Given the description of an element on the screen output the (x, y) to click on. 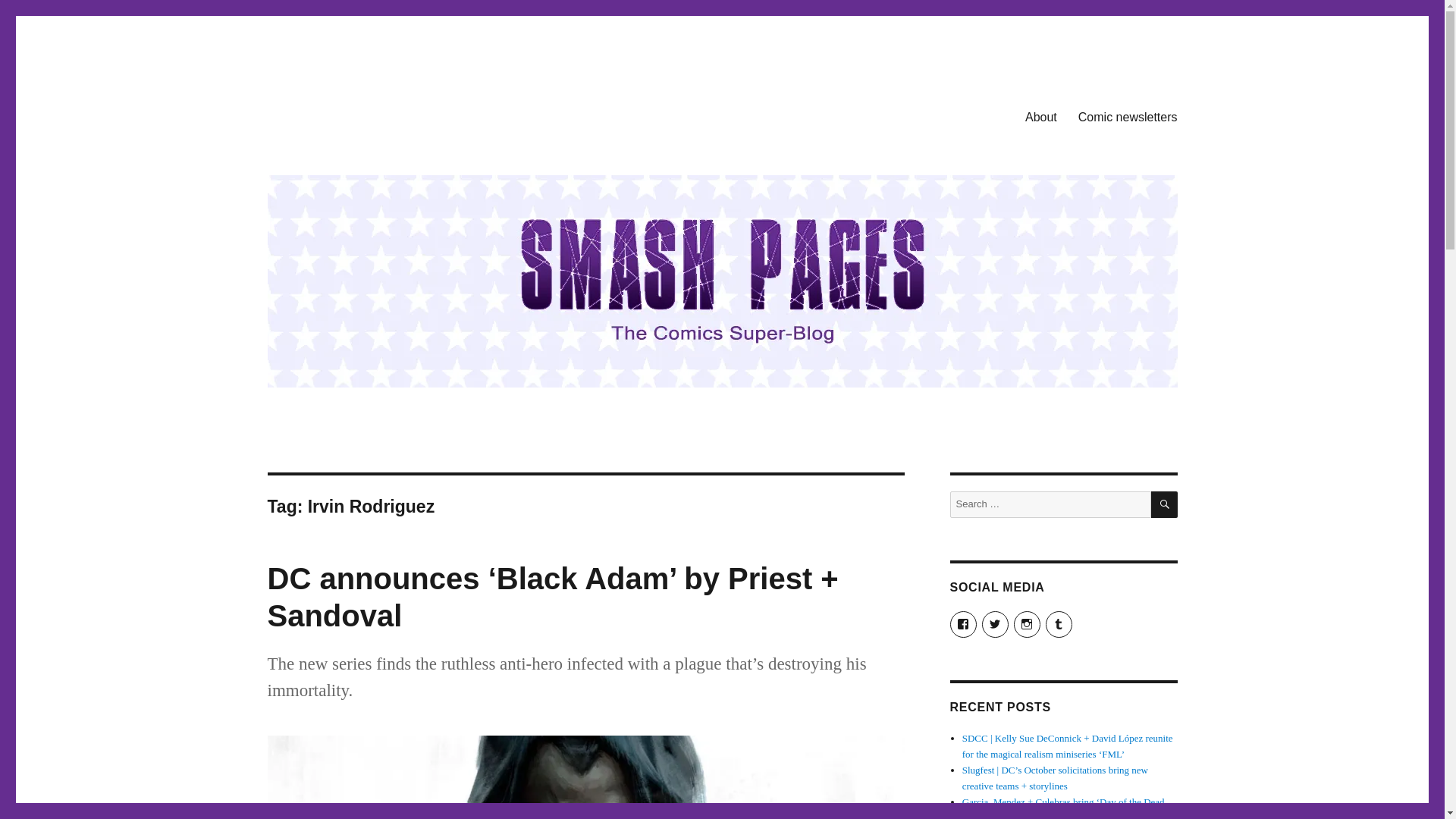
About (1040, 116)
SMASH PAGES (344, 114)
Comic newsletters (1127, 116)
SEARCH (1164, 504)
